Given the description of an element on the screen output the (x, y) to click on. 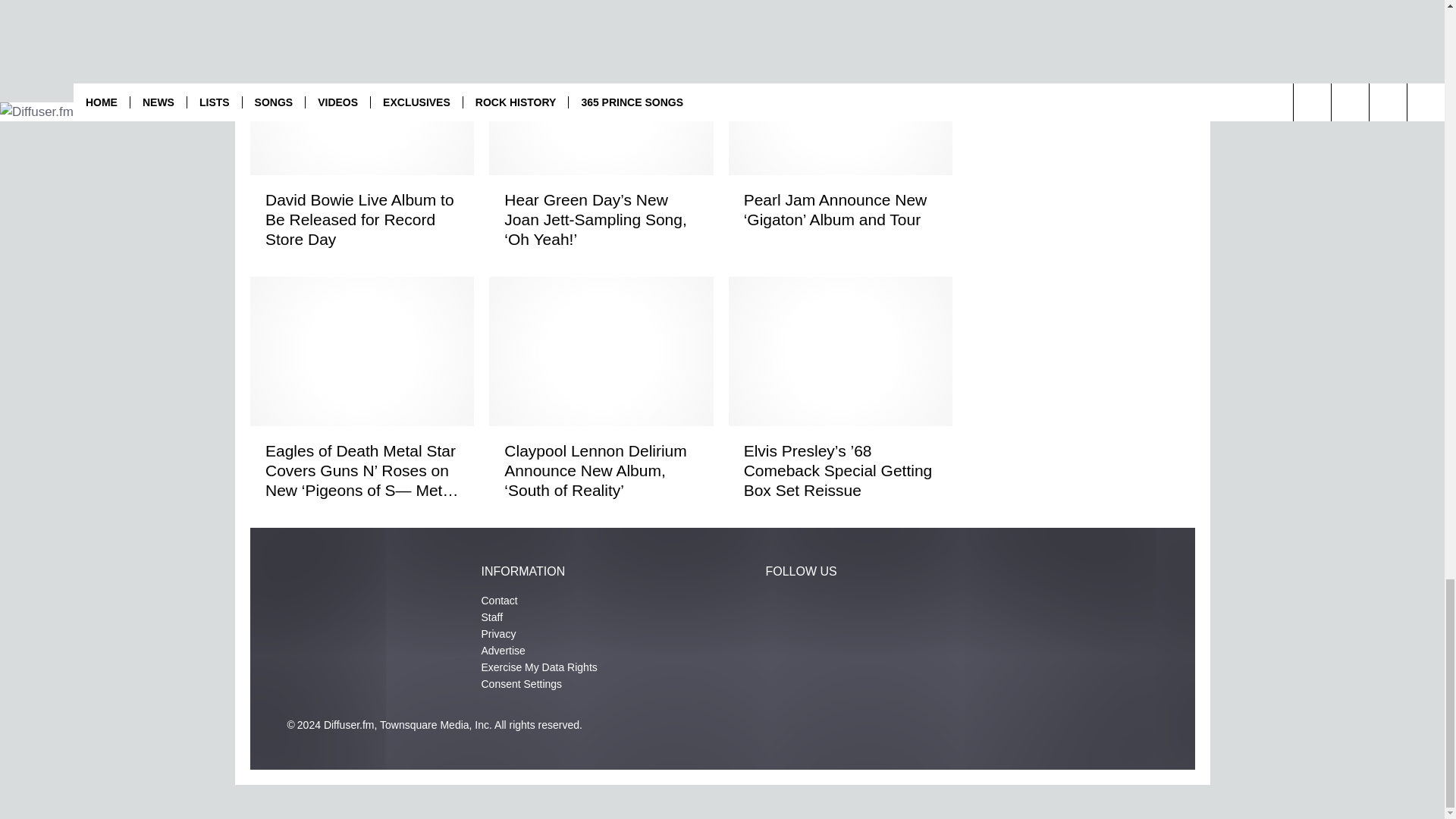
David Bowie Live Album to Be Released for Record Store Day (361, 219)
